Given the description of an element on the screen output the (x, y) to click on. 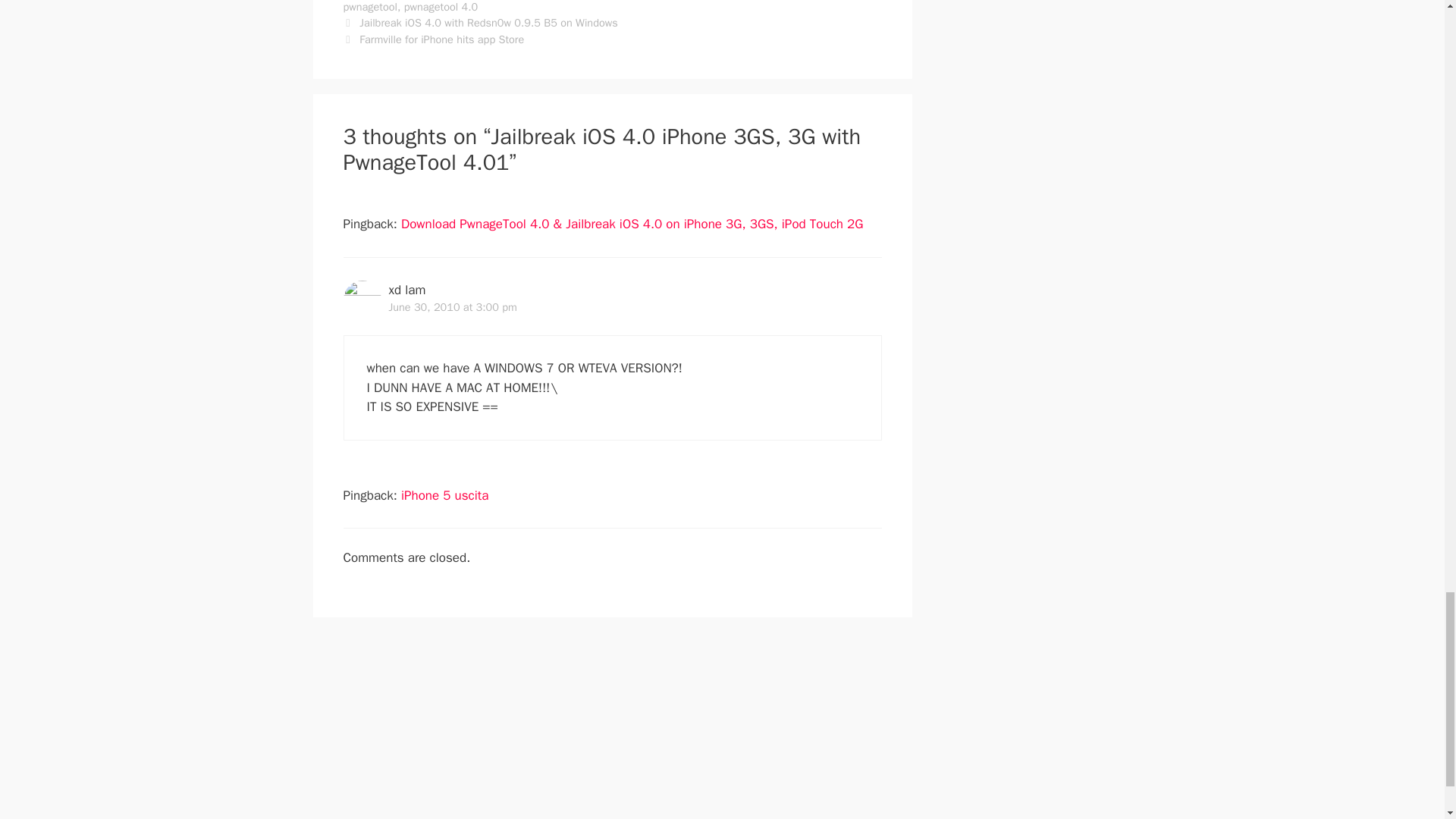
June 30, 2010 at 3:00 pm (452, 306)
Jailbreak iOS 4.0 with Redsn0w 0.9.5 B5 on Windows (488, 22)
pwnagetool 4.0 (440, 6)
iPhone 5 uscita (444, 495)
Farmville for iPhone hits app Store (441, 38)
pwnagetool (369, 6)
